Given the description of an element on the screen output the (x, y) to click on. 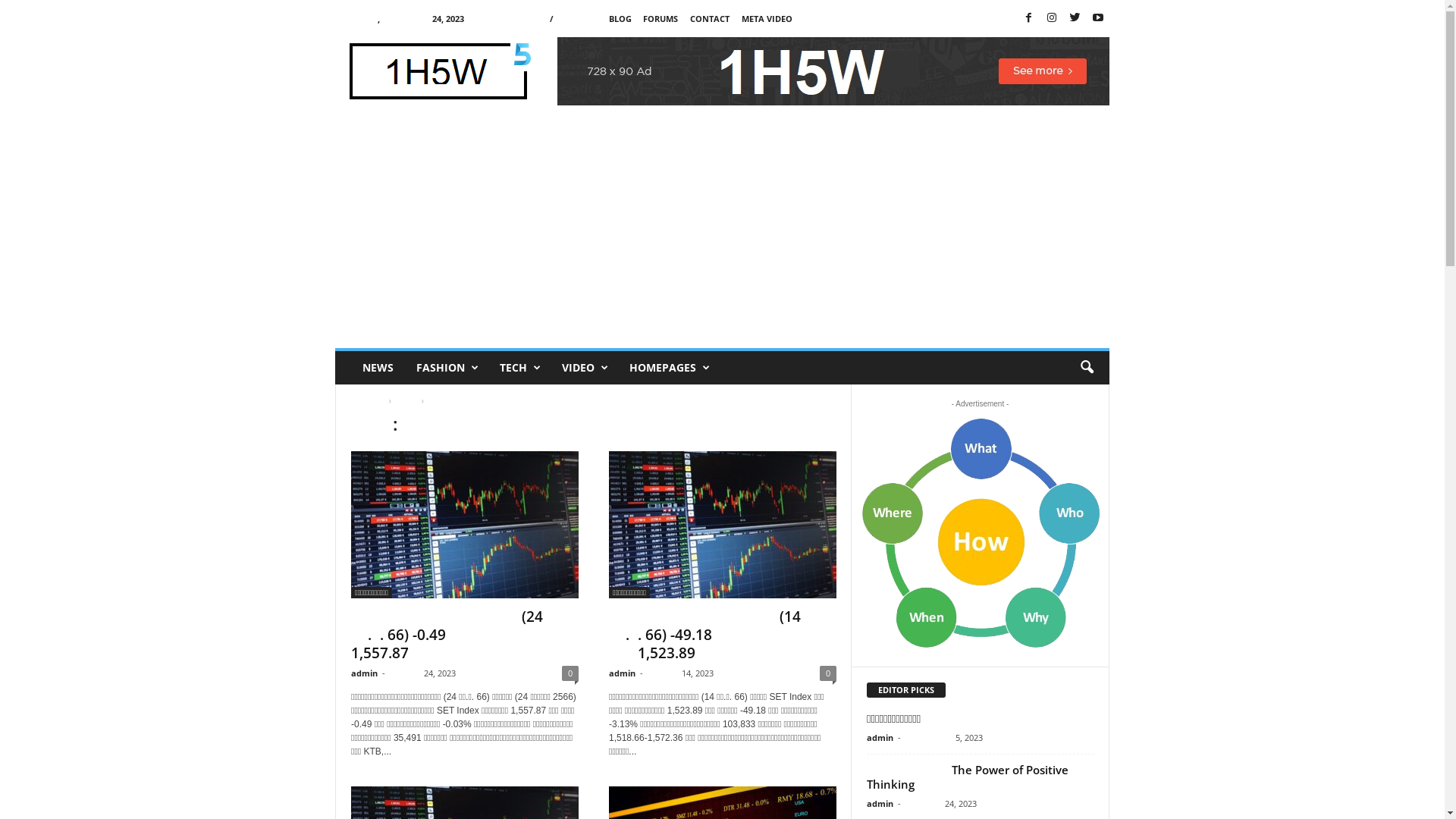
admin Element type: text (621, 672)
Advertisement Element type: hover (722, 234)
TECH Element type: text (519, 367)
admin Element type: text (879, 803)
0 Element type: text (827, 672)
HOMEPAGES Element type: text (668, 367)
VIDEO Element type: text (584, 367)
1h5w.com Element type: text (438, 71)
NEWS Element type: text (377, 367)
META VIDEO Element type: text (766, 18)
admin Element type: text (879, 737)
FORUMS Element type: text (660, 18)
Facebook Element type: hover (1028, 18)
CONTACT Element type: text (709, 18)
Youtube Element type: hover (1097, 18)
admin Element type: text (364, 672)
Instagram Element type: hover (1051, 18)
FASHION Element type: text (446, 367)
0 Element type: text (569, 672)
Twitter Element type: hover (1074, 18)
BLOG Element type: text (619, 18)
